Given the description of an element on the screen output the (x, y) to click on. 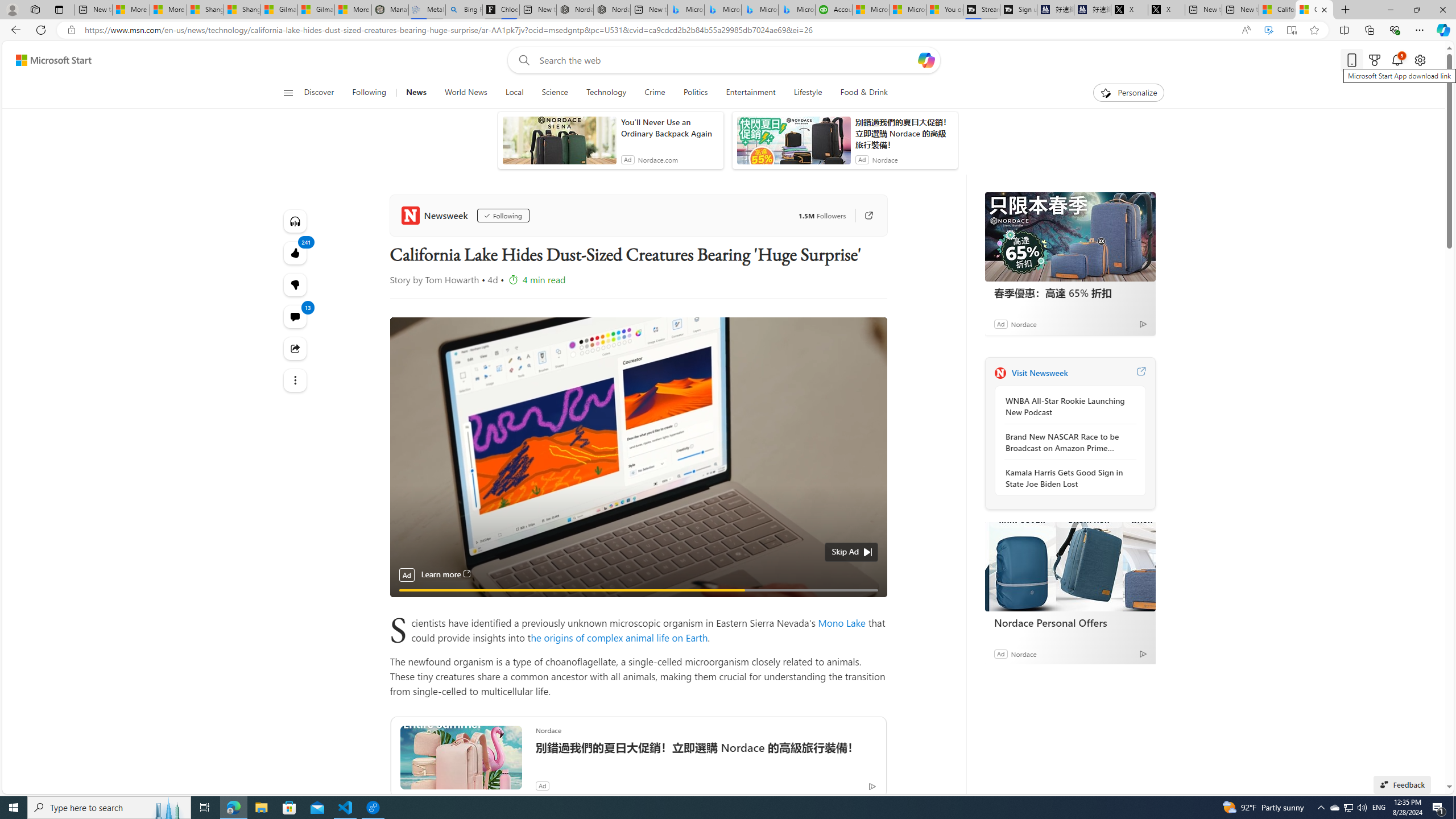
Learn more (446, 574)
Share this story (295, 348)
Skip Ad (845, 551)
World News (465, 92)
Crime (655, 92)
241 Like (295, 252)
Listen to this article (295, 221)
Open navigation menu (287, 92)
Accounting Software for Accountants, CPAs and Bookkeepers (833, 9)
Politics (694, 92)
